Given the description of an element on the screen output the (x, y) to click on. 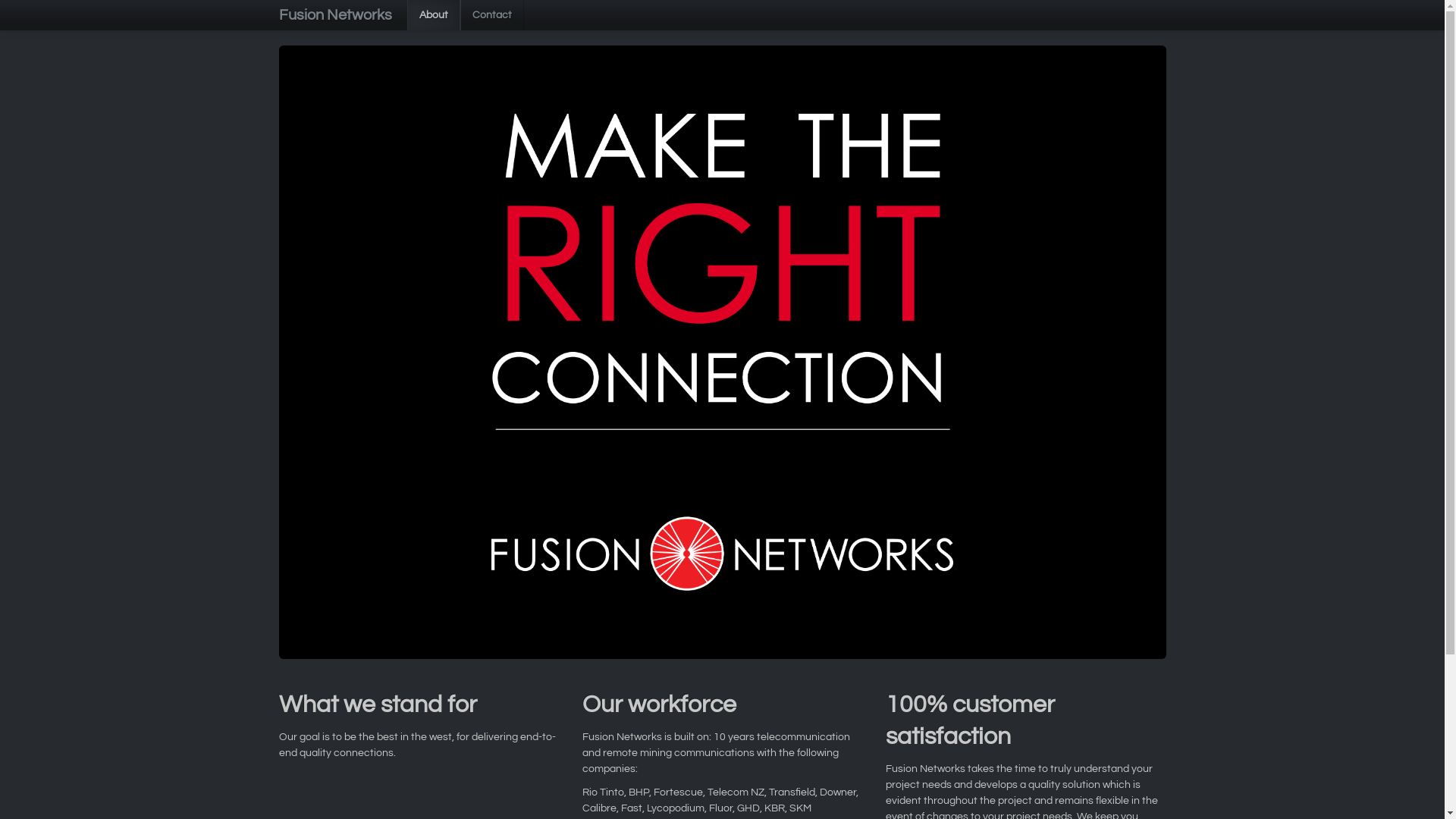
Contact Element type: text (491, 15)
About Element type: text (433, 15)
Fusion Networks Element type: text (335, 15)
